Given the description of an element on the screen output the (x, y) to click on. 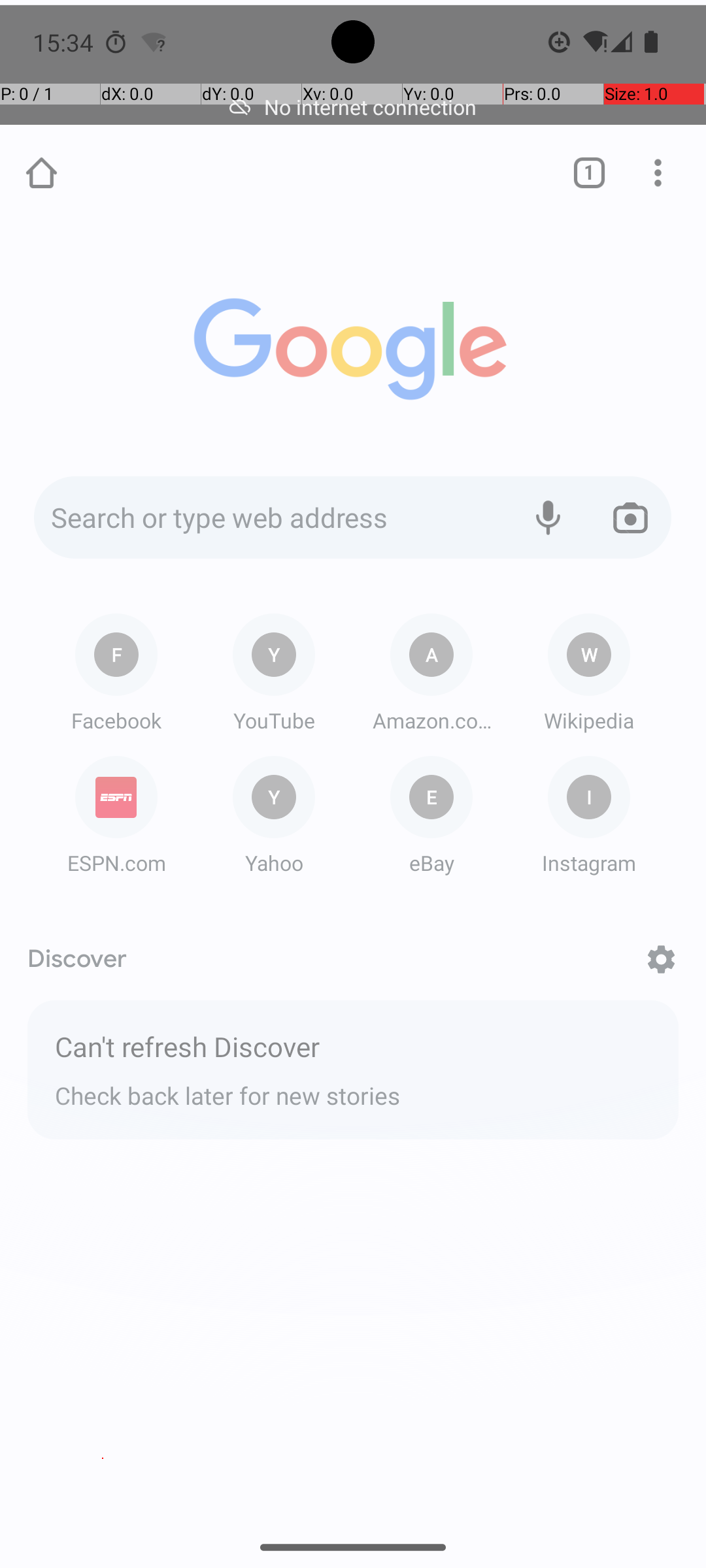
Can't refresh Discover Element type: android.widget.TextView (352, 1047)
Check back later for new stories Element type: android.widget.TextView (352, 1089)
